Given the description of an element on the screen output the (x, y) to click on. 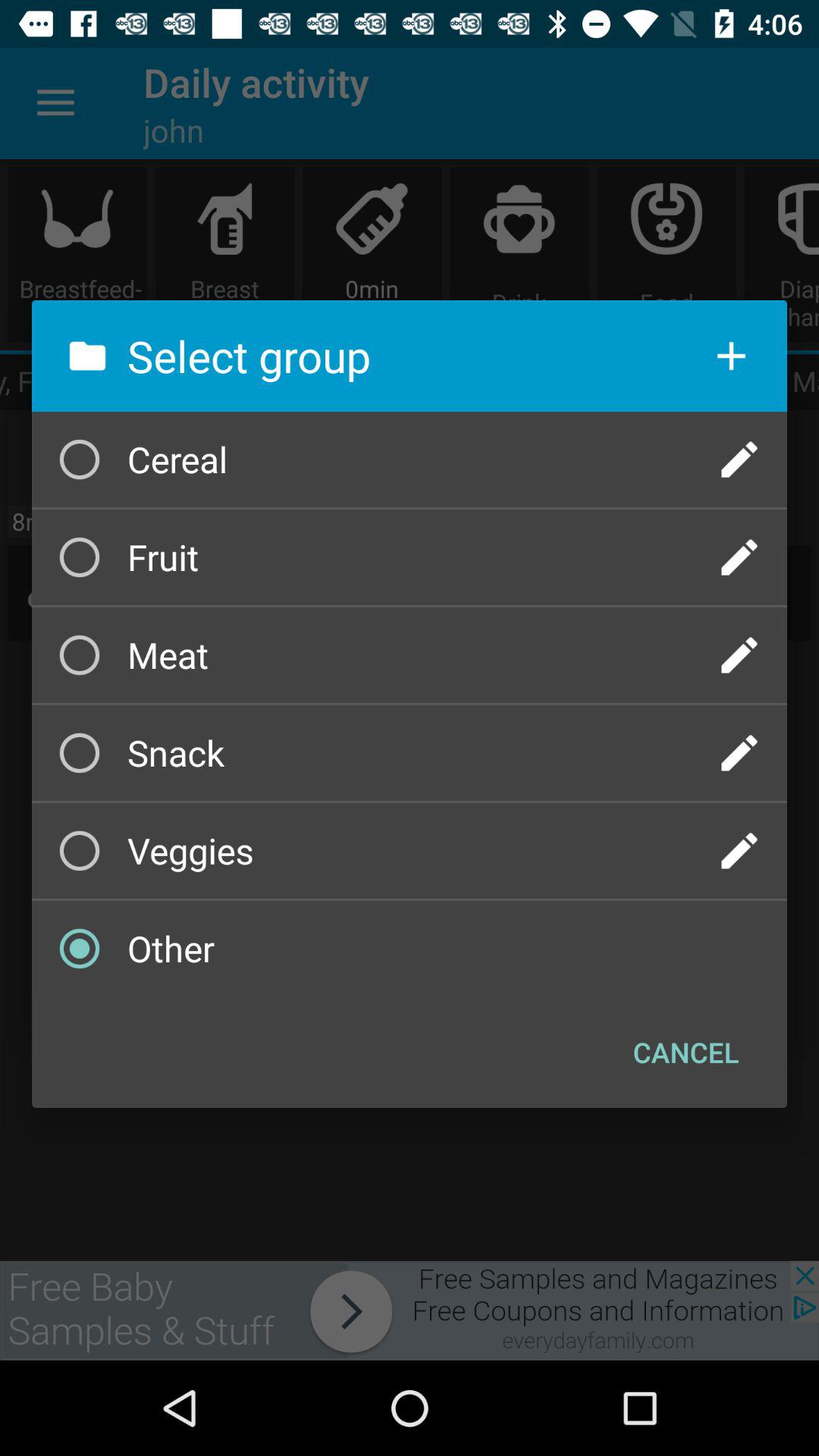
go to draw (739, 752)
